Given the description of an element on the screen output the (x, y) to click on. 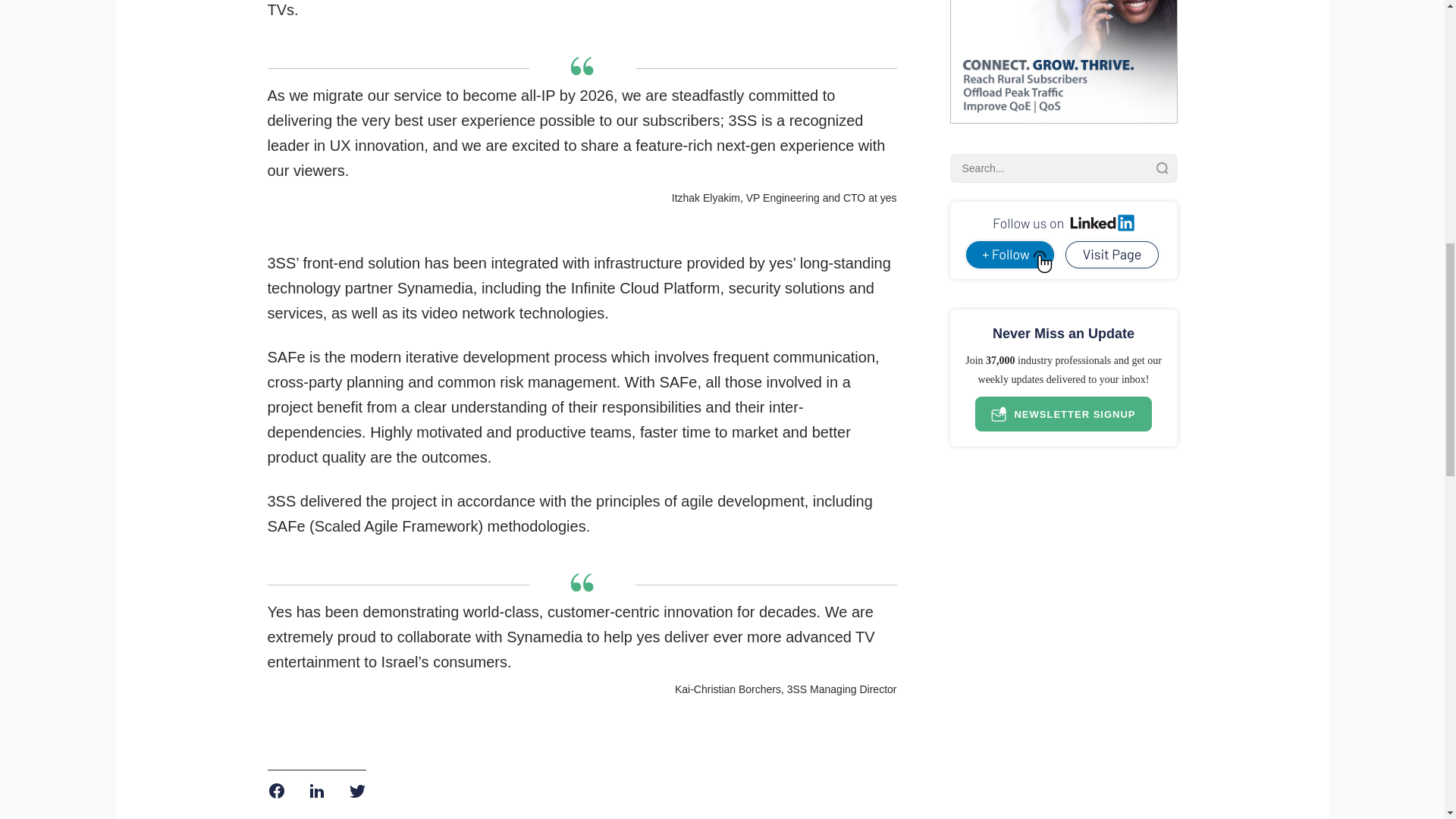
Search (1162, 167)
Search (1162, 167)
NEWSLETTER SIGNUP (1063, 413)
